Given the description of an element on the screen output the (x, y) to click on. 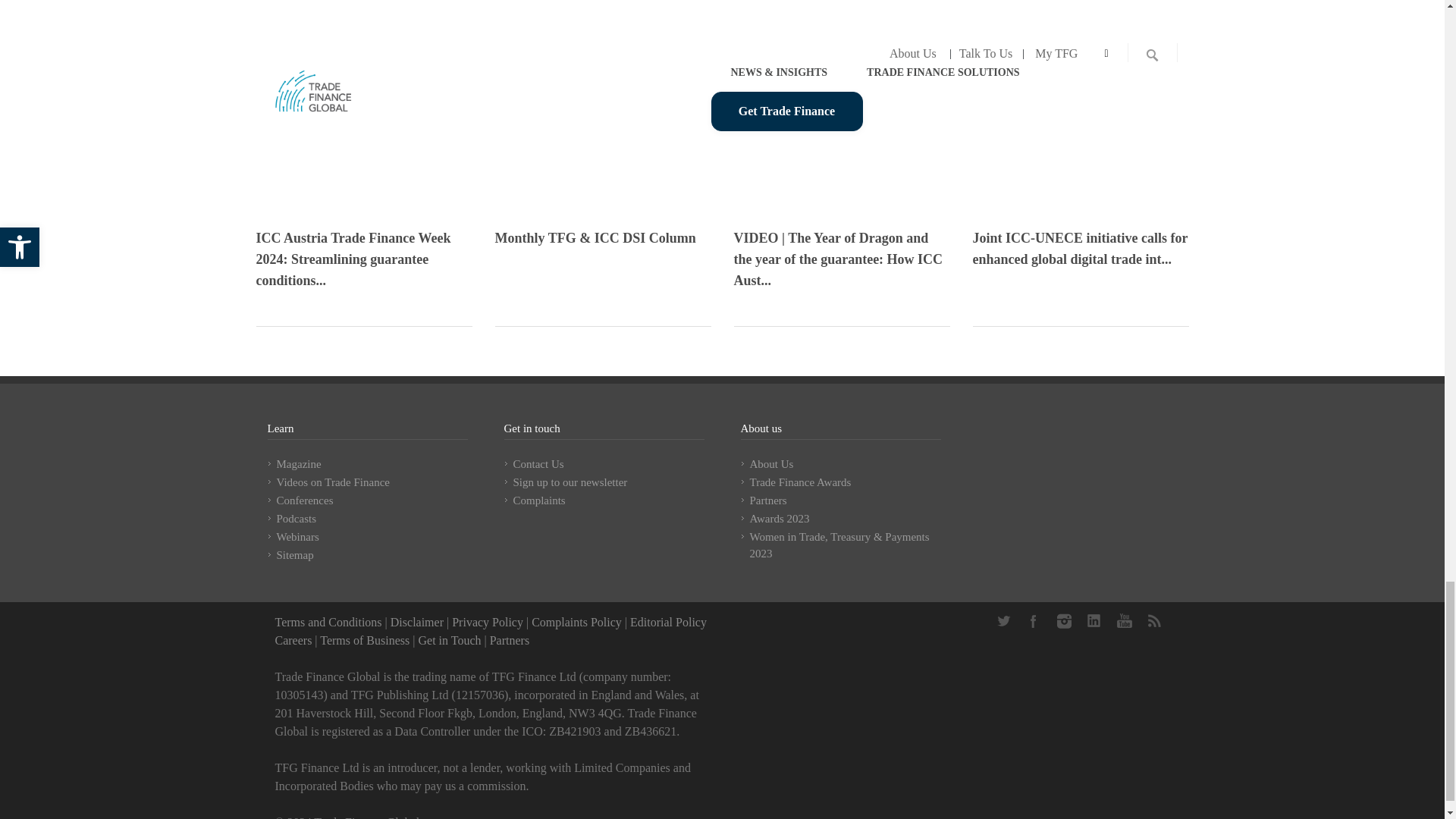
Disclaimer (417, 621)
Editorial Policy (668, 621)
Complaints Policy (576, 621)
Privacy Policy (486, 621)
Twitter (1002, 621)
Partners (509, 640)
Trade Finance Jobs (293, 640)
Terms and Conditions (328, 621)
Terms of Business (364, 640)
Contact Us (448, 640)
